Given the description of an element on the screen output the (x, y) to click on. 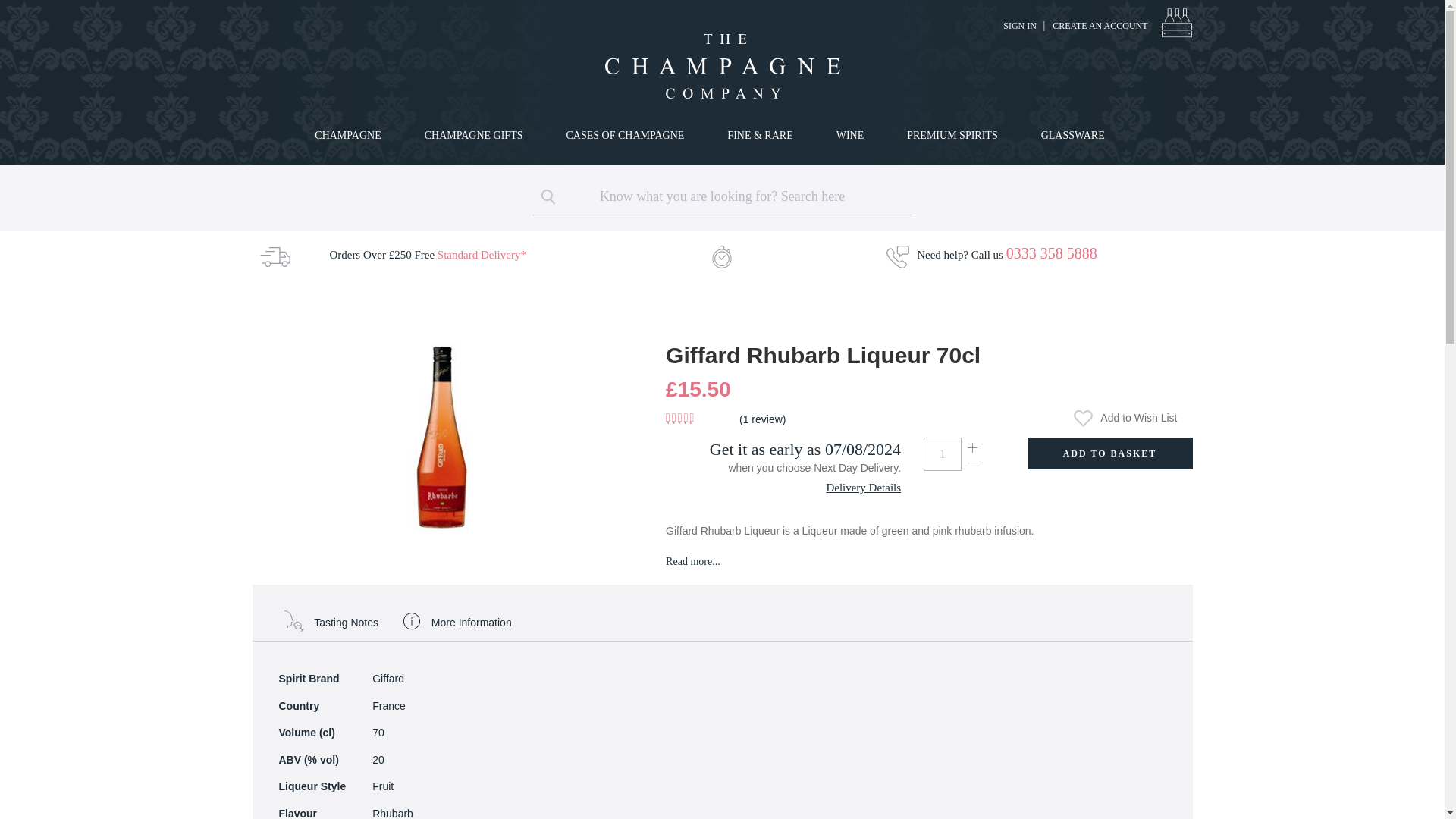
Add to Basket (1109, 453)
My Basket (1176, 22)
The Champagne Company (722, 66)
CREATE AN ACCOUNT (1099, 25)
CHAMPAGNE (350, 135)
1 (941, 453)
The Champagne Company (721, 66)
Qty (941, 453)
SIGN IN (1019, 25)
